Given the description of an element on the screen output the (x, y) to click on. 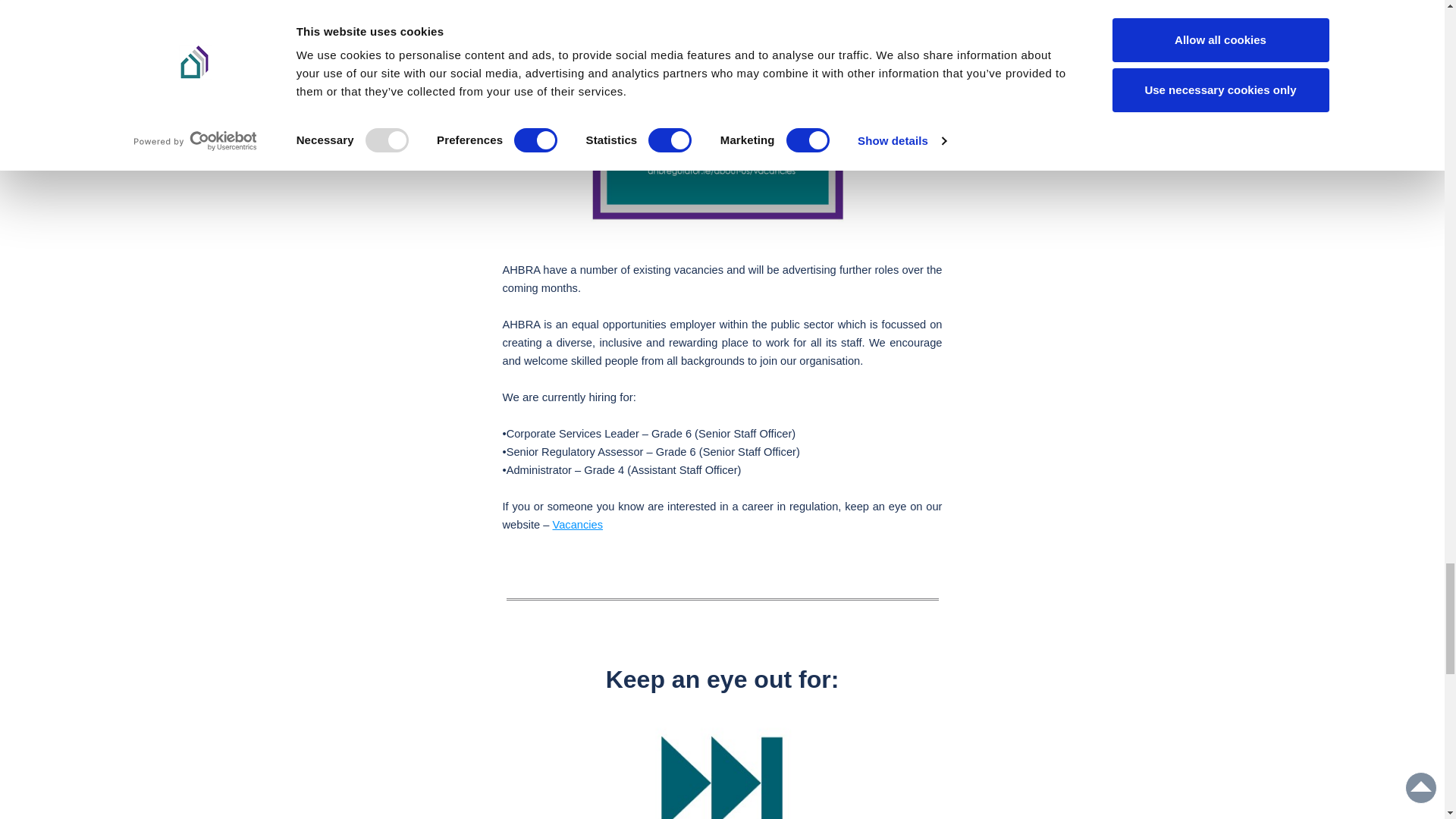
Vacancies (576, 523)
